Given the description of an element on the screen output the (x, y) to click on. 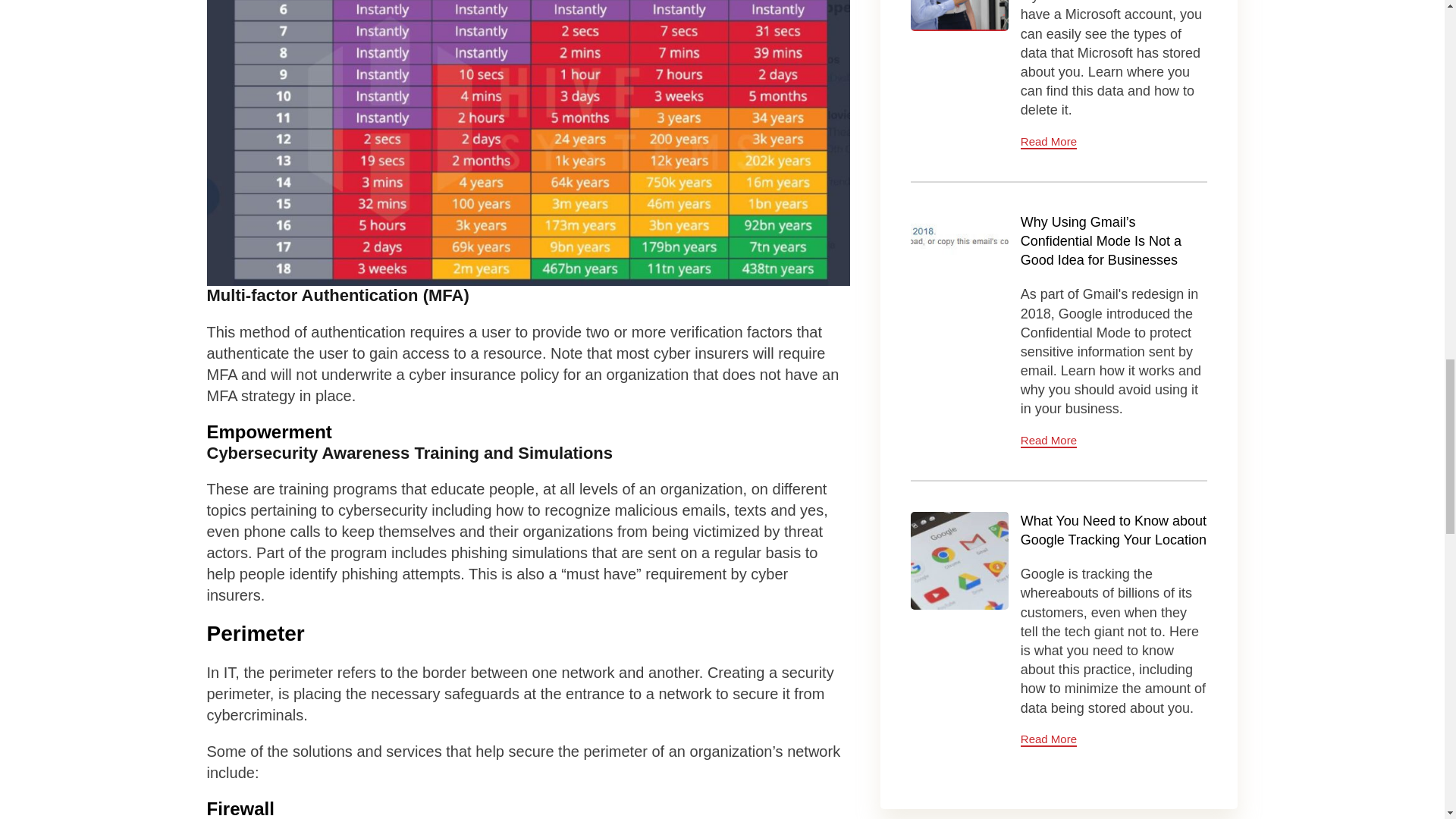
Read More (1048, 440)
Read More (1048, 739)
What You Need to Know about Google Tracking Your Location (1113, 530)
What You Need to Know about Google Tracking Your Location (960, 560)
Read More (1048, 142)
Find Out What Data Microsoft Is Saving about You (960, 15)
